Given the description of an element on the screen output the (x, y) to click on. 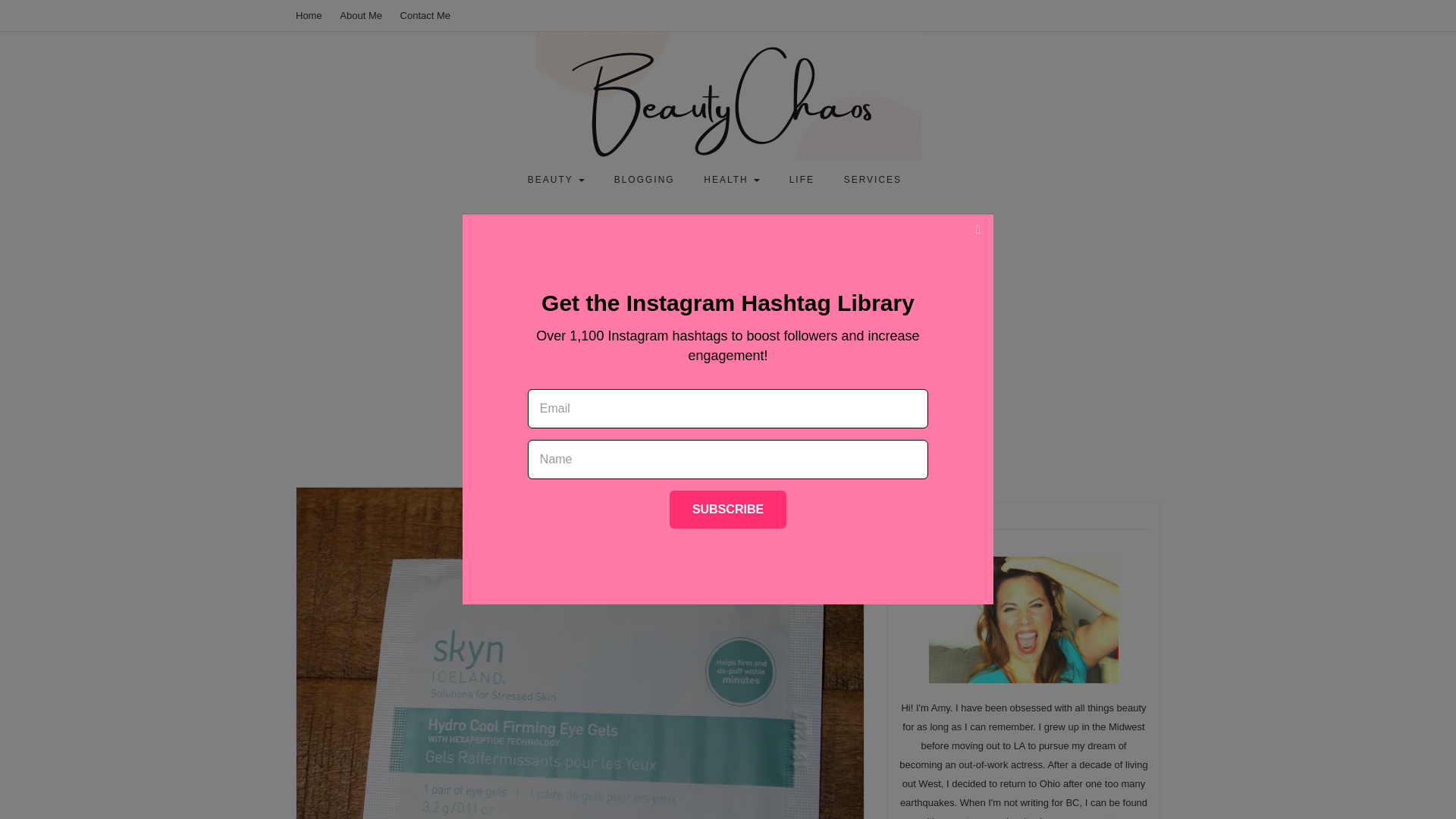
HEALTH (731, 179)
Beauty Chaos (238, 165)
BLOGGING (644, 179)
Beauty (556, 179)
Home (308, 15)
Contact Me (424, 15)
Blogging (644, 179)
About Me (360, 15)
Services (872, 179)
Health (731, 179)
SERVICES (872, 179)
Contact Me (424, 15)
About Me (360, 15)
Home (308, 15)
